Given the description of an element on the screen output the (x, y) to click on. 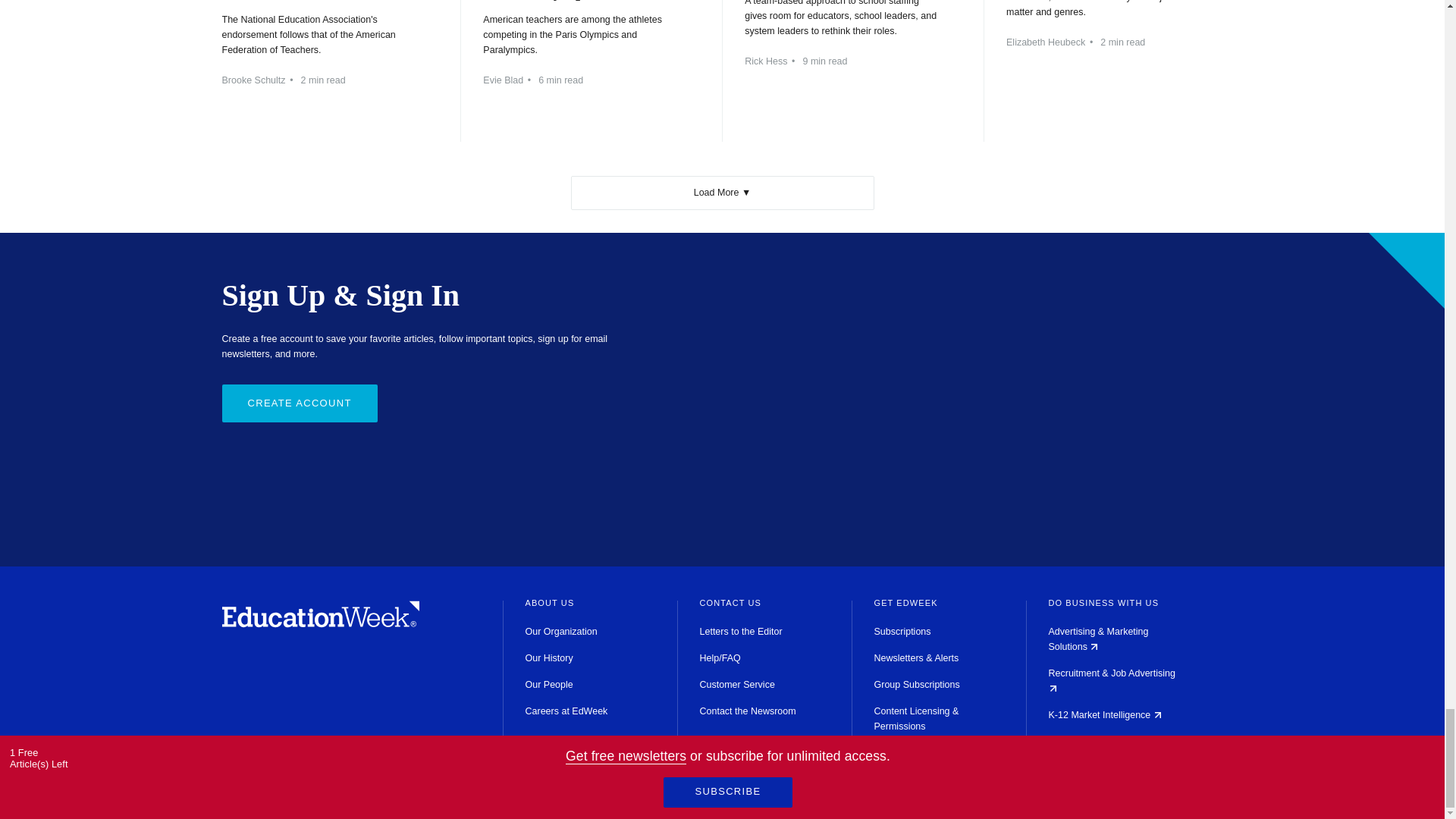
Homepage (320, 623)
